Given the description of an element on the screen output the (x, y) to click on. 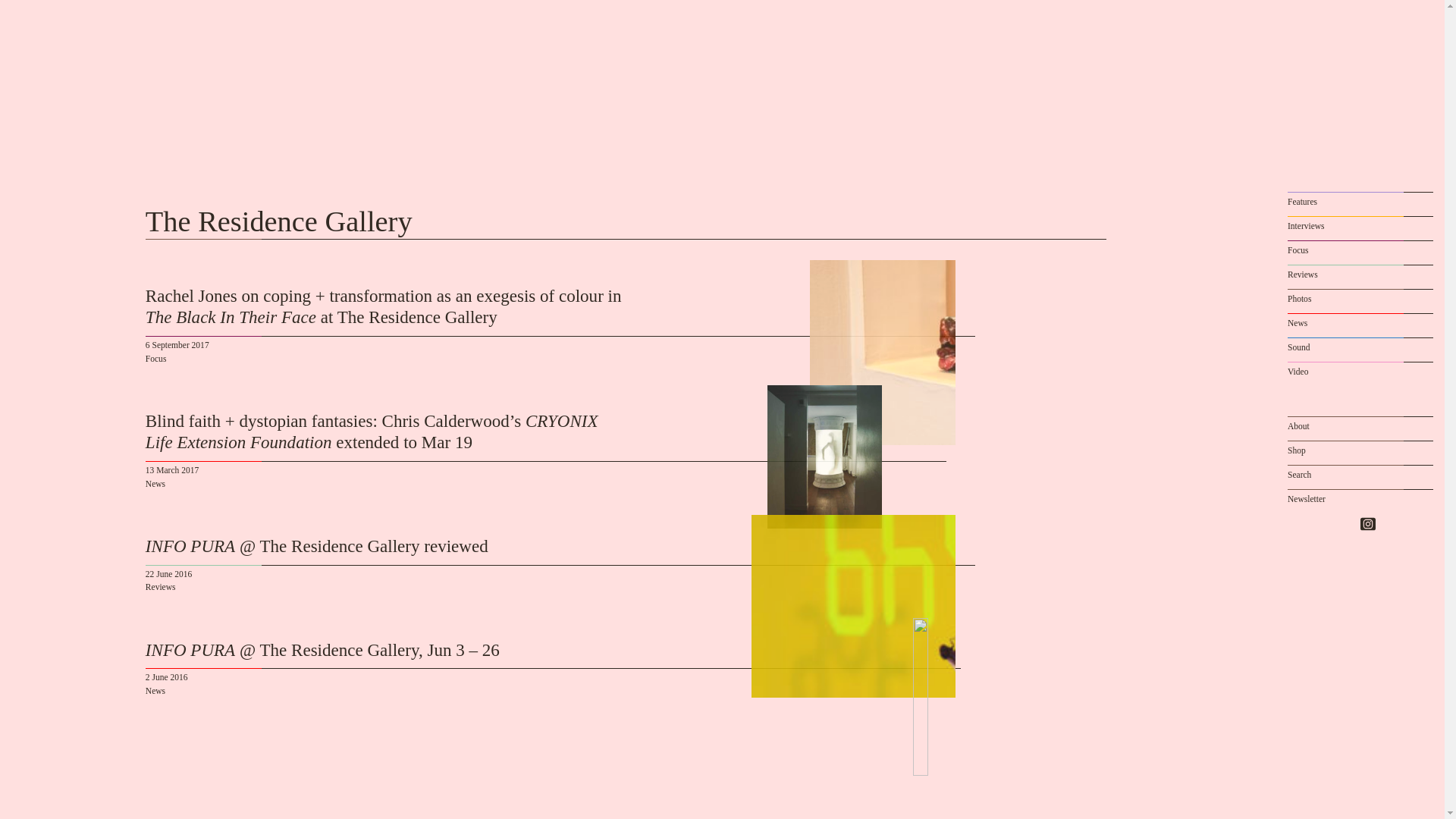
Search (1299, 478)
About (1297, 429)
Shop (1296, 453)
Features (1302, 205)
News (1297, 326)
Photos (1299, 302)
Reviews (1302, 278)
Interviews (1305, 229)
Newsletter (1305, 502)
Sound (1297, 351)
Focus (1297, 253)
Video (1297, 375)
